Given the description of an element on the screen output the (x, y) to click on. 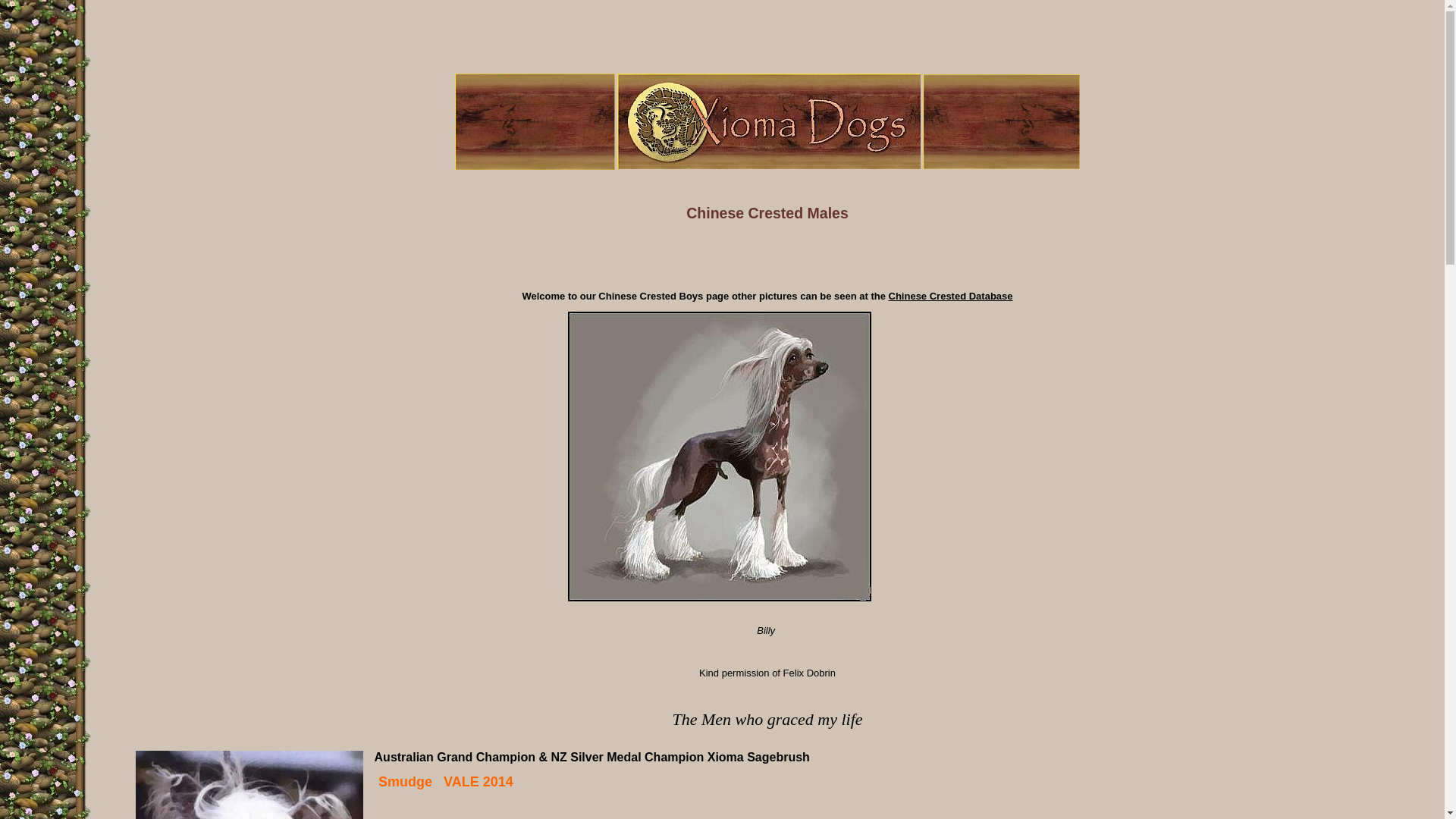
Chinese Crested Database (950, 296)
